Given the description of an element on the screen output the (x, y) to click on. 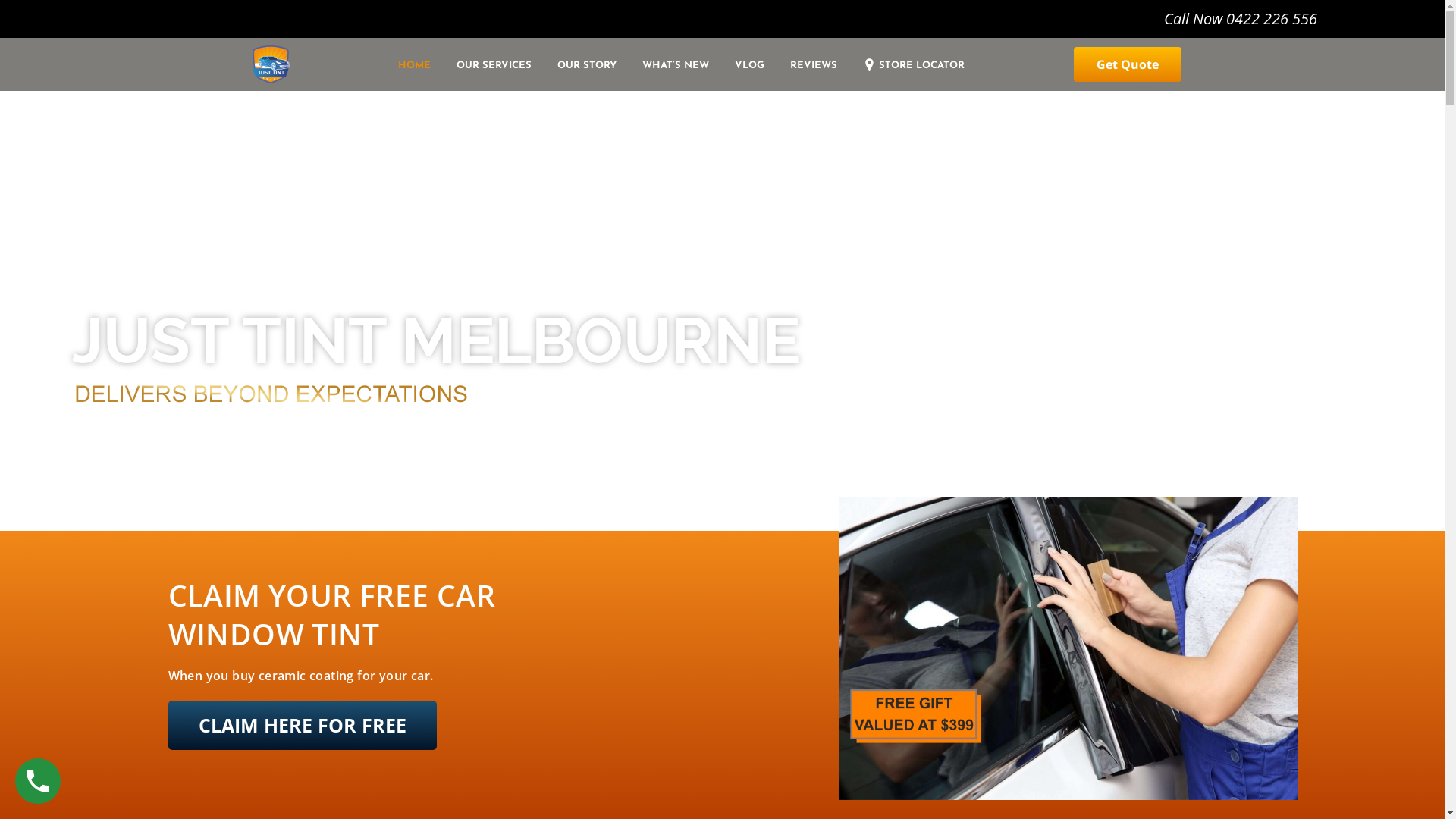
CLAIM HERE FOR FREE Element type: text (302, 724)
VLOG Element type: text (749, 65)
Get Quote Element type: text (1127, 64)
STORE LOCATOR Element type: text (907, 66)
OUR SERVICES Element type: text (493, 65)
Call Now 0422 226 556 Element type: text (1196, 18)
HOME Element type: text (420, 65)
REVIEWS Element type: text (813, 65)
OUR STORY Element type: text (586, 65)
